Given the description of an element on the screen output the (x, y) to click on. 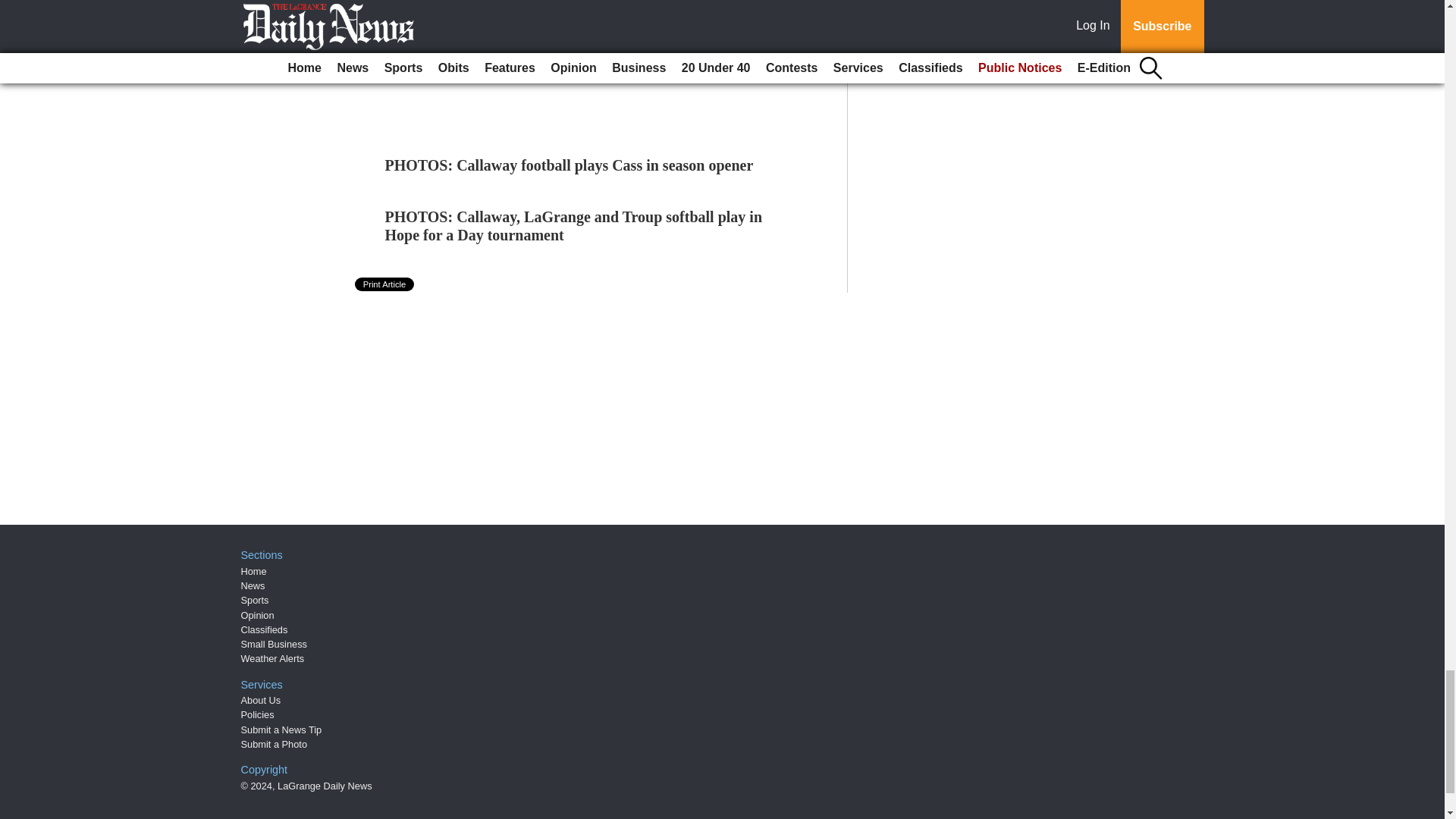
PHOTOS: Callaway football plays Cass in season opener (569, 165)
Callaway struggles in season opener (477, 39)
Home (253, 571)
News (252, 585)
Callaway struggles in season opener (477, 39)
Sports (255, 600)
Print Article (384, 284)
PHOTOS: Callaway football plays Cass in season opener (569, 165)
